Given the description of an element on the screen output the (x, y) to click on. 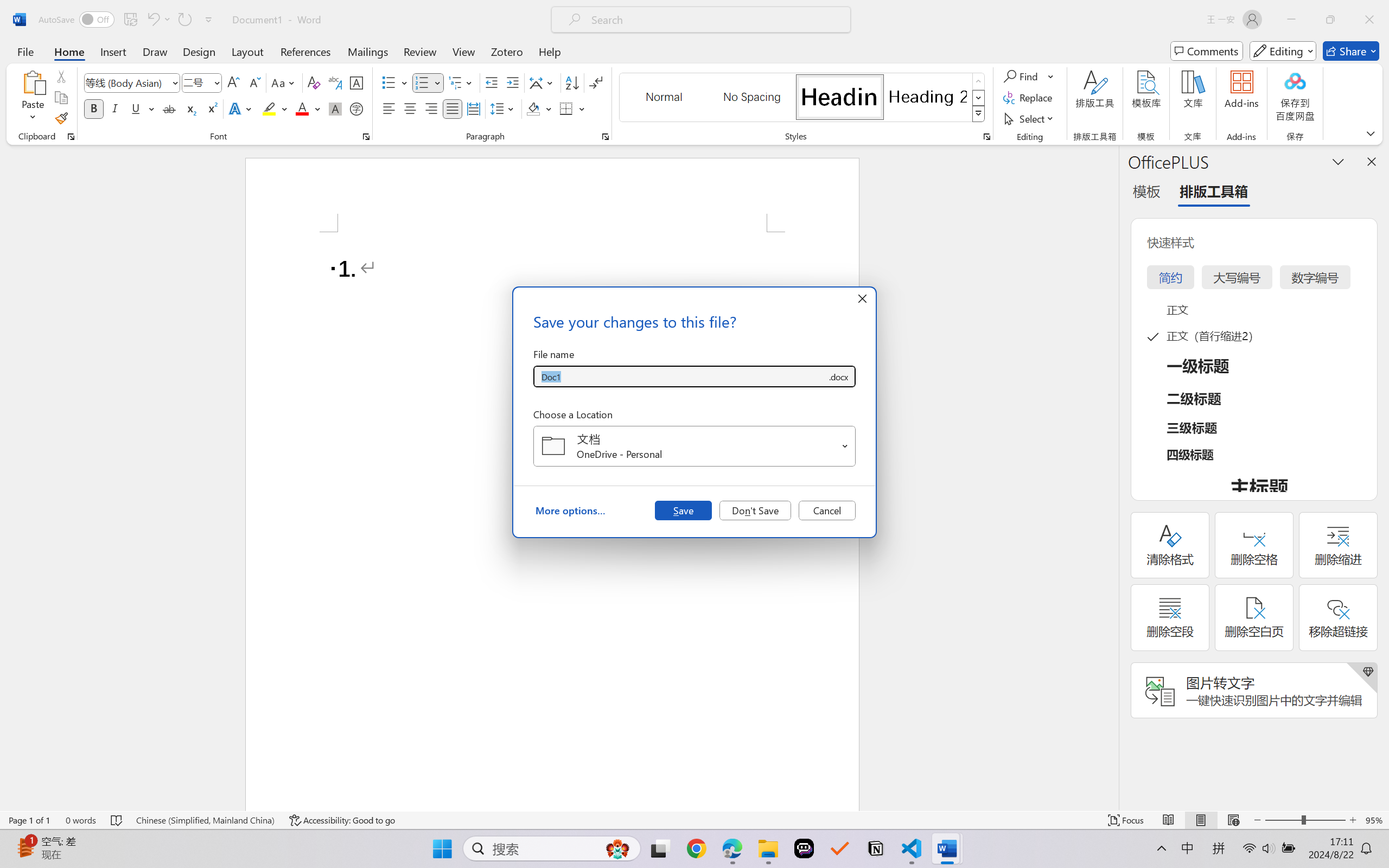
Undo Number Default (152, 19)
